Given the description of an element on the screen output the (x, y) to click on. 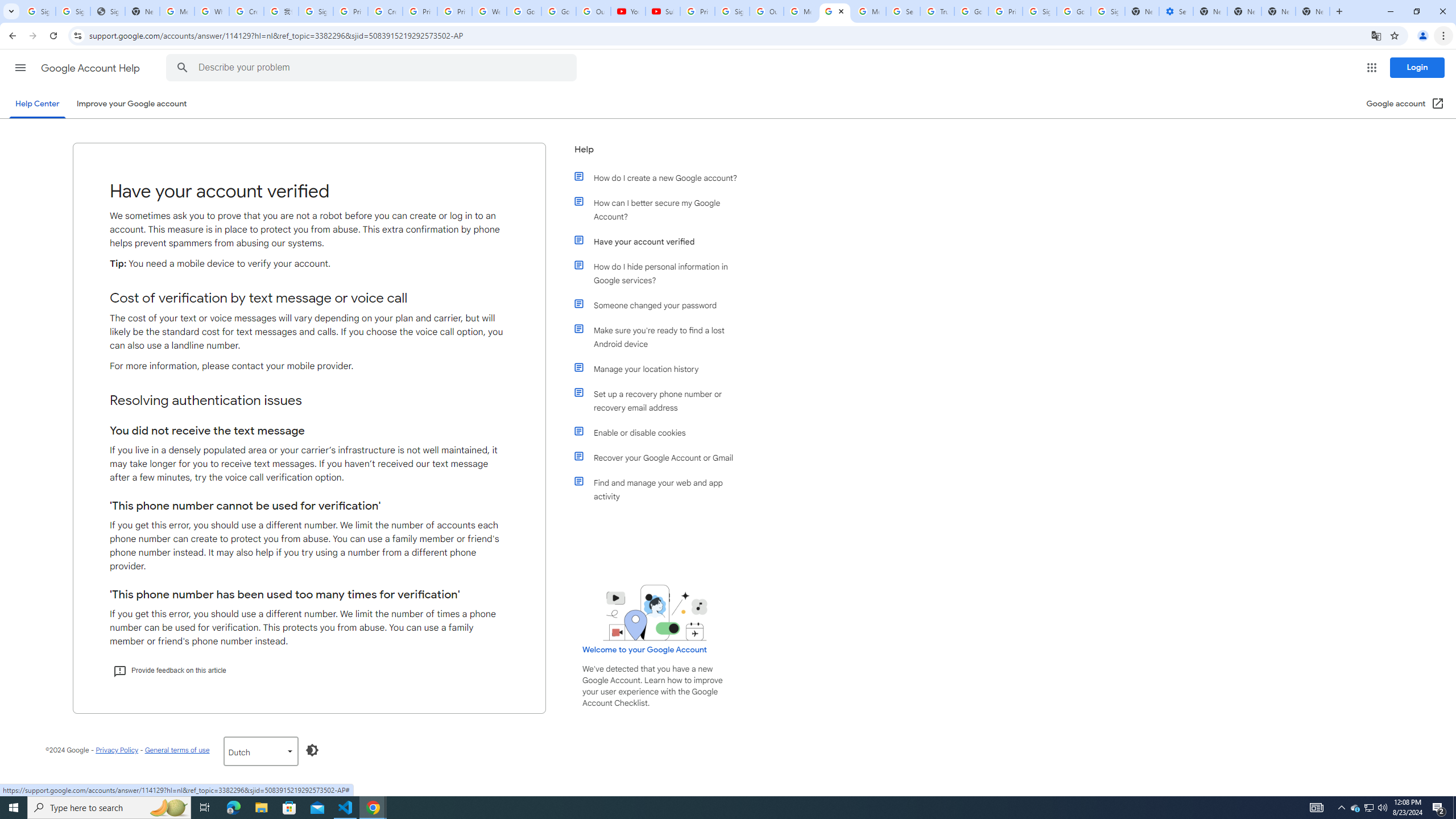
Find and manage your web and app activity (661, 489)
Google Account (Opens in new window) (1404, 103)
Enable or disable cookies (661, 432)
Google Cybersecurity Innovations - Google Safety Center (1073, 11)
Enable dark mode (312, 750)
Google Ads - Sign in (970, 11)
Describe your problem (373, 67)
Google Account Help (91, 68)
Make sure you're ready to find a lost Android device (661, 336)
Help Center (36, 103)
